Given the description of an element on the screen output the (x, y) to click on. 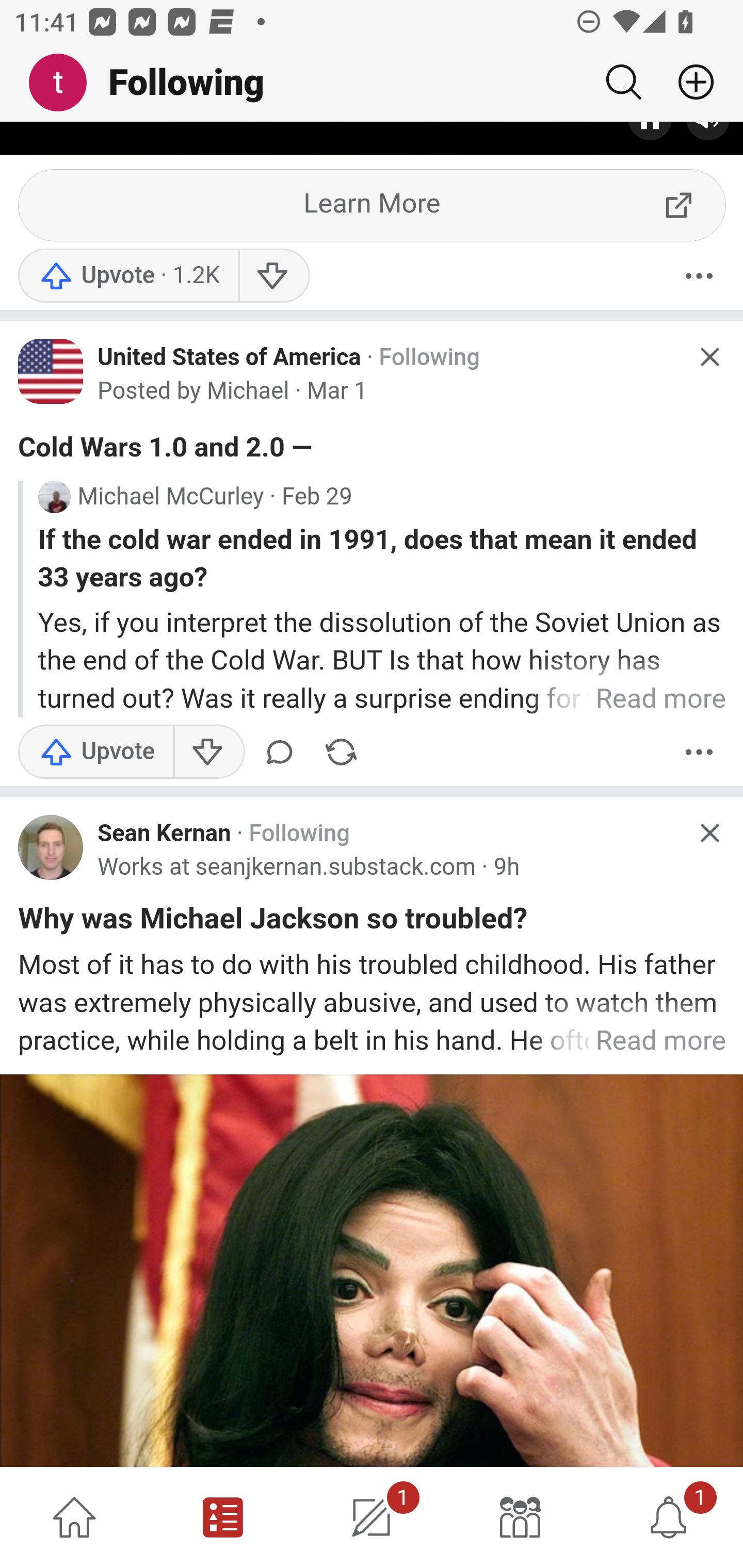
Me (64, 83)
Search (623, 82)
Add (688, 82)
Learn More ExternalLink (372, 207)
Upvote (127, 277)
Downvote (273, 277)
More (699, 277)
Hide (709, 357)
Icon for United States of America (50, 373)
United States of America (229, 358)
Following (428, 358)
Profile photo for Michael McCurley (54, 498)
Upvote (95, 753)
Downvote (208, 753)
Comment (283, 753)
Share (341, 753)
More (699, 753)
Hide (709, 833)
Profile photo for Sean Kernan (50, 848)
Sean Kernan (164, 834)
Following (299, 834)
1 (371, 1517)
1 (668, 1517)
